Given the description of an element on the screen output the (x, y) to click on. 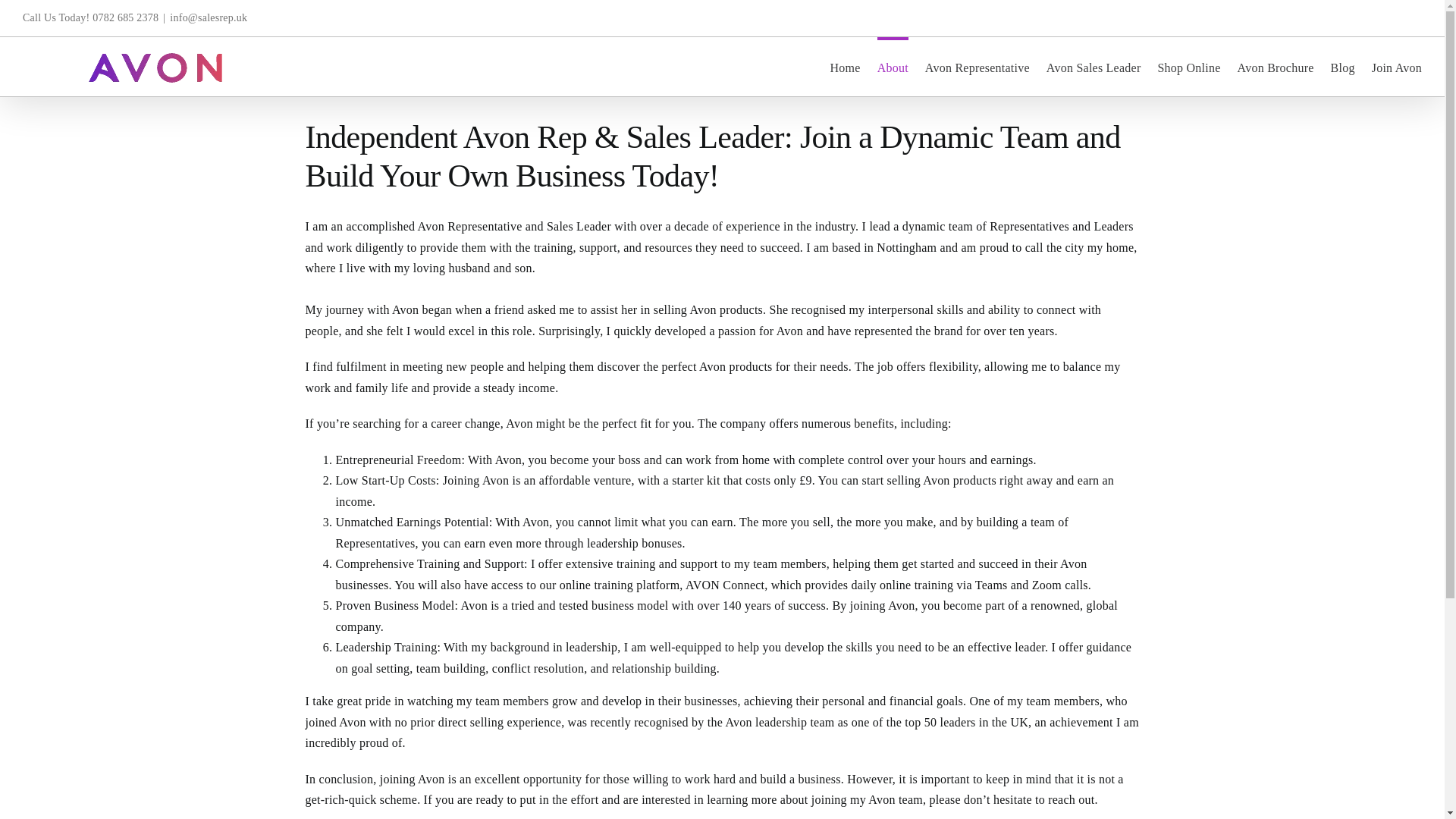
Avon Representative (976, 66)
Shop Online (1188, 66)
joining Avon (412, 779)
Avon Sales Leader (1093, 66)
Avon Brochure (1275, 66)
Avon (405, 309)
Avon Representative (469, 226)
Avon leadership (765, 721)
